Given the description of an element on the screen output the (x, y) to click on. 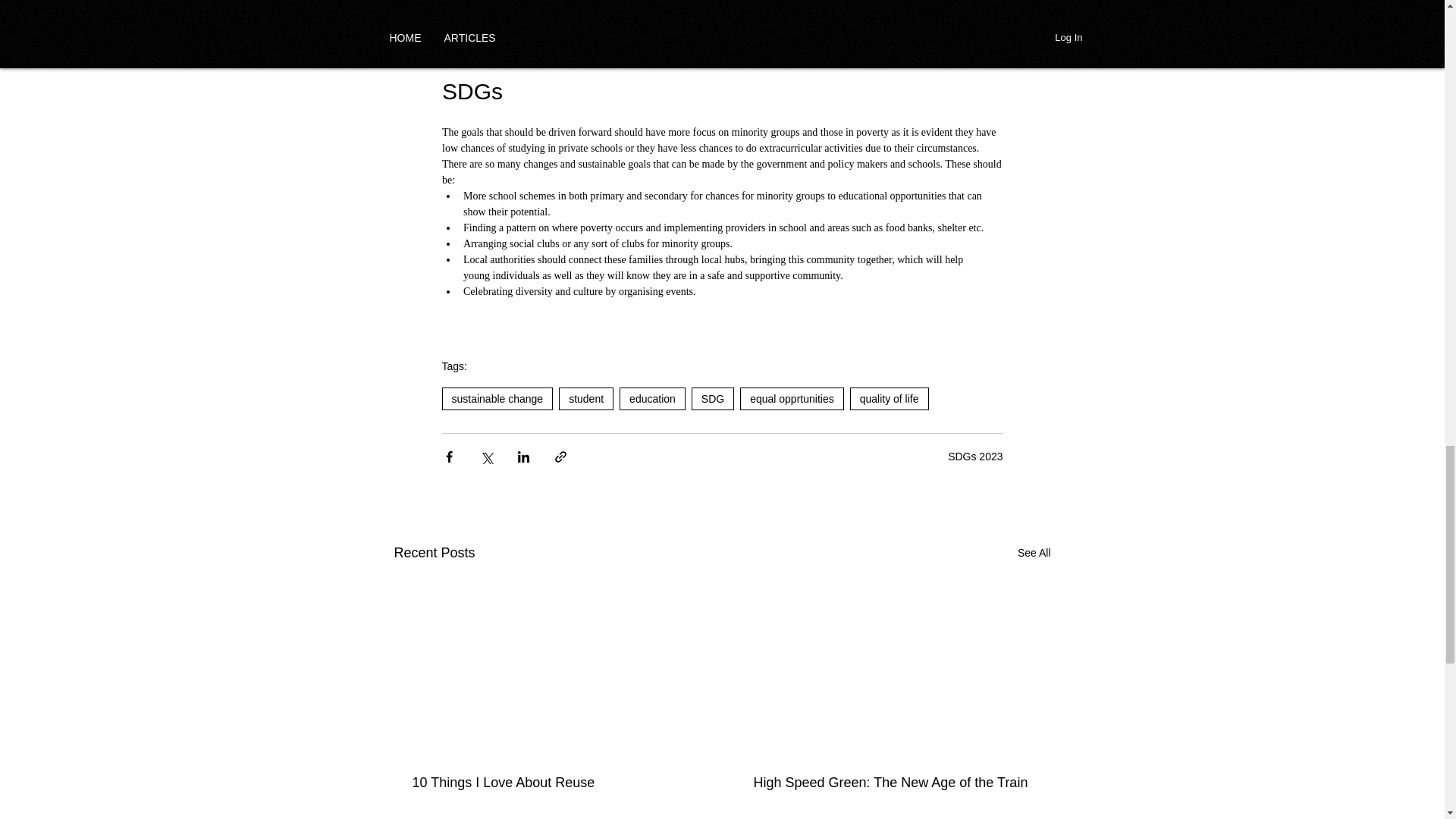
quality of life (889, 398)
10 Things I Love About Reuse (551, 782)
equal opprtunities (791, 398)
SDGs 2023 (975, 456)
See All (1034, 553)
sustainable change (497, 398)
student (585, 398)
SDG (712, 398)
education (652, 398)
High Speed Green: The New Age of the Train (893, 782)
